Given the description of an element on the screen output the (x, y) to click on. 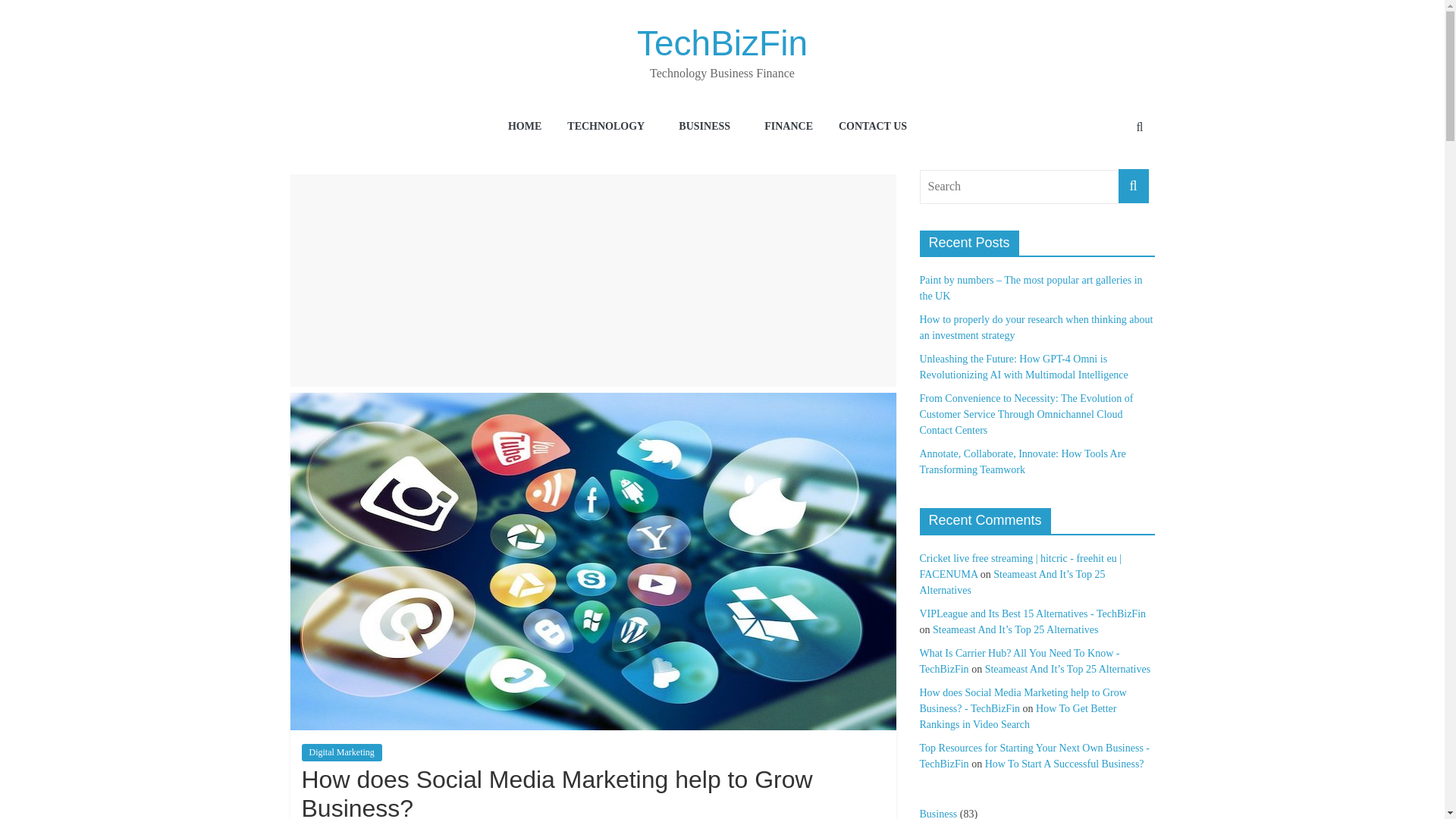
CONTACT US (872, 126)
TECHNOLOGY (609, 126)
Digital Marketing (341, 751)
HOME (524, 126)
Advertisement (592, 280)
TechBizFin (722, 43)
TechBizFin (722, 43)
FINANCE (788, 126)
BUSINESS (708, 126)
